Given the description of an element on the screen output the (x, y) to click on. 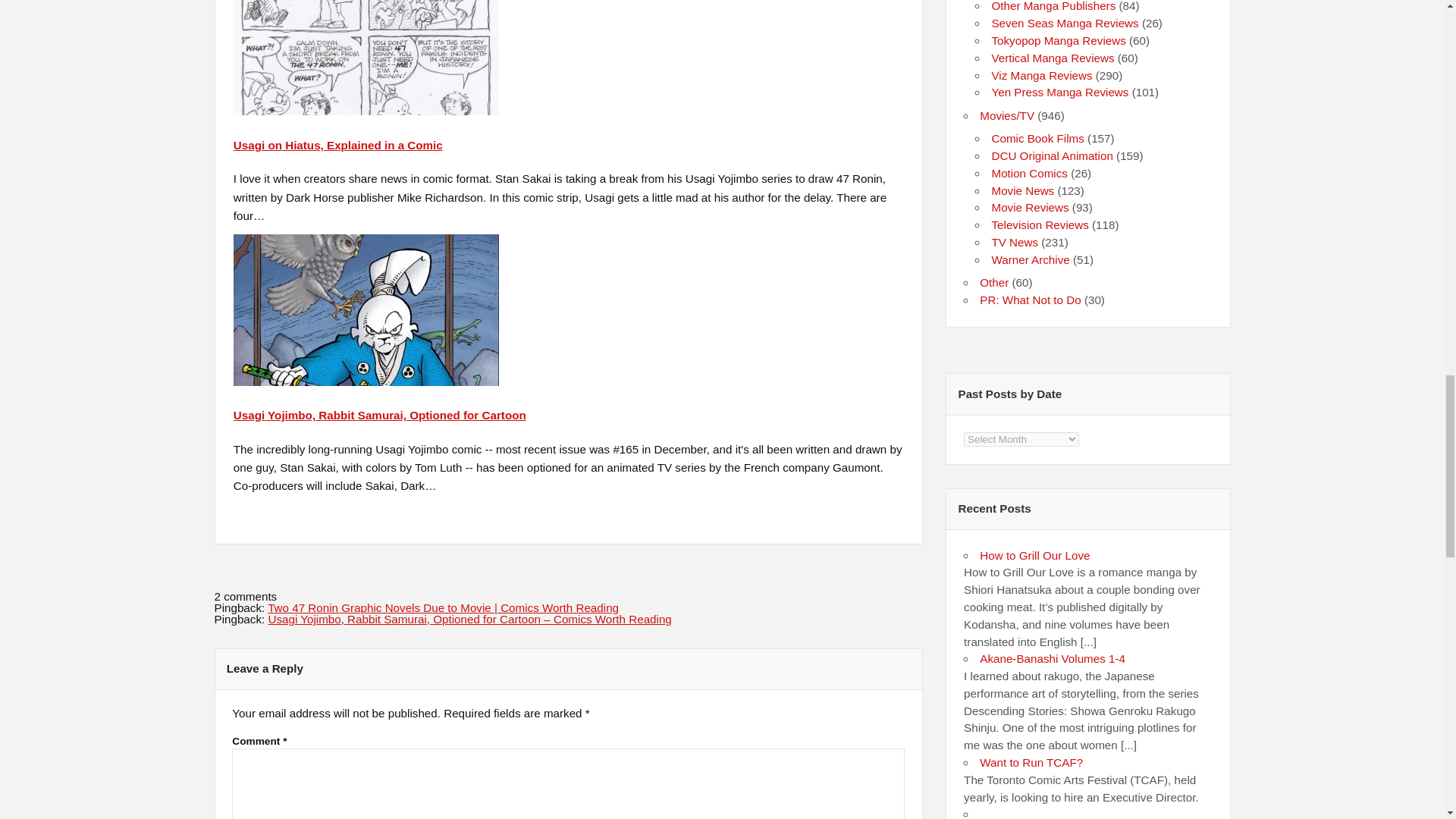
Usagi Yojimbo, Rabbit Samurai, Optioned for Cartoon (365, 381)
Usagi on Hiatus, Explained in a Comic (337, 144)
Usagi on Hiatus, Explained in a Comic (365, 110)
Usagi Yojimbo, Rabbit Samurai, Optioned for Cartoon (378, 414)
Usagi Yojimbo, Rabbit Samurai, Optioned for Cartoon (378, 414)
Usagi on Hiatus, Explained in a Comic (337, 144)
